Given the description of an element on the screen output the (x, y) to click on. 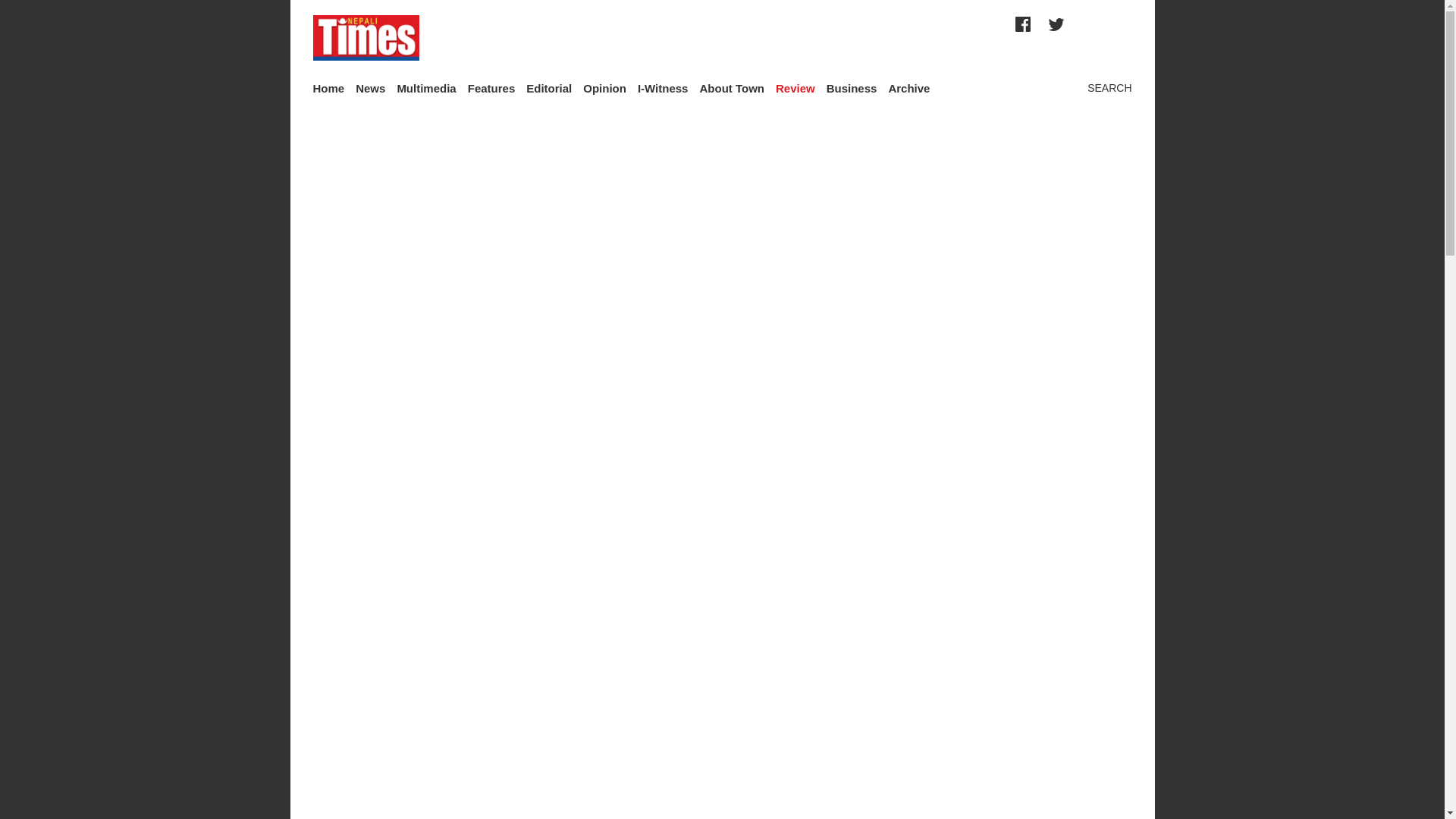
Home (328, 88)
News (370, 88)
Business (852, 88)
I-Witness (662, 88)
About Town (731, 88)
Opinion (604, 88)
Features (491, 88)
Editorial (548, 88)
Multimedia (425, 88)
Archive (909, 88)
